Given the description of an element on the screen output the (x, y) to click on. 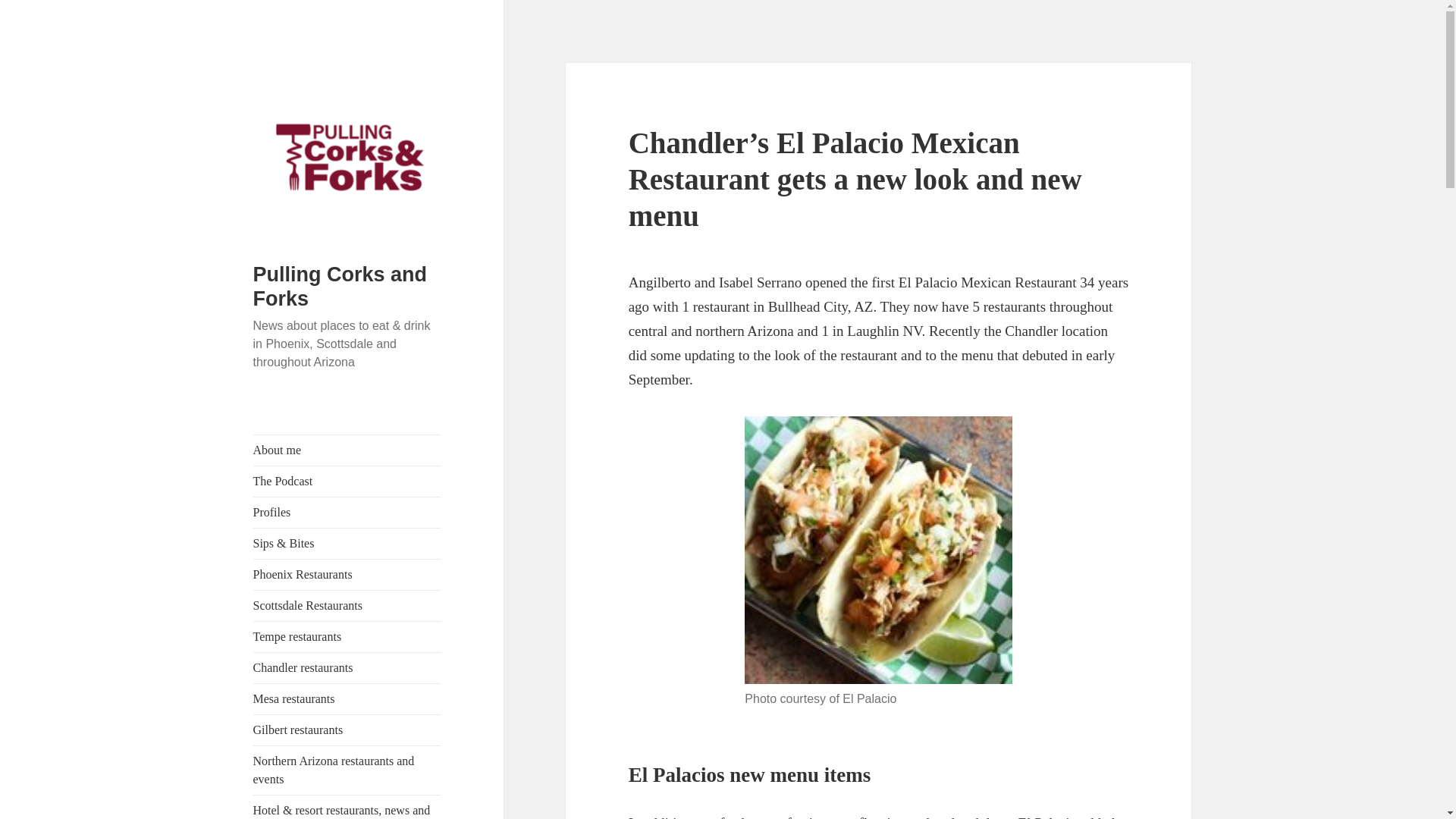
Scottsdale Restaurants (347, 605)
Phoenix Restaurants (347, 574)
Mesa restaurants (347, 698)
The Podcast (347, 481)
Profiles (347, 512)
Pulling Corks and Forks (340, 286)
Tempe restaurants (347, 636)
About me (347, 450)
Chandler restaurants (347, 667)
Northern Arizona restaurants and events (347, 770)
